Given the description of an element on the screen output the (x, y) to click on. 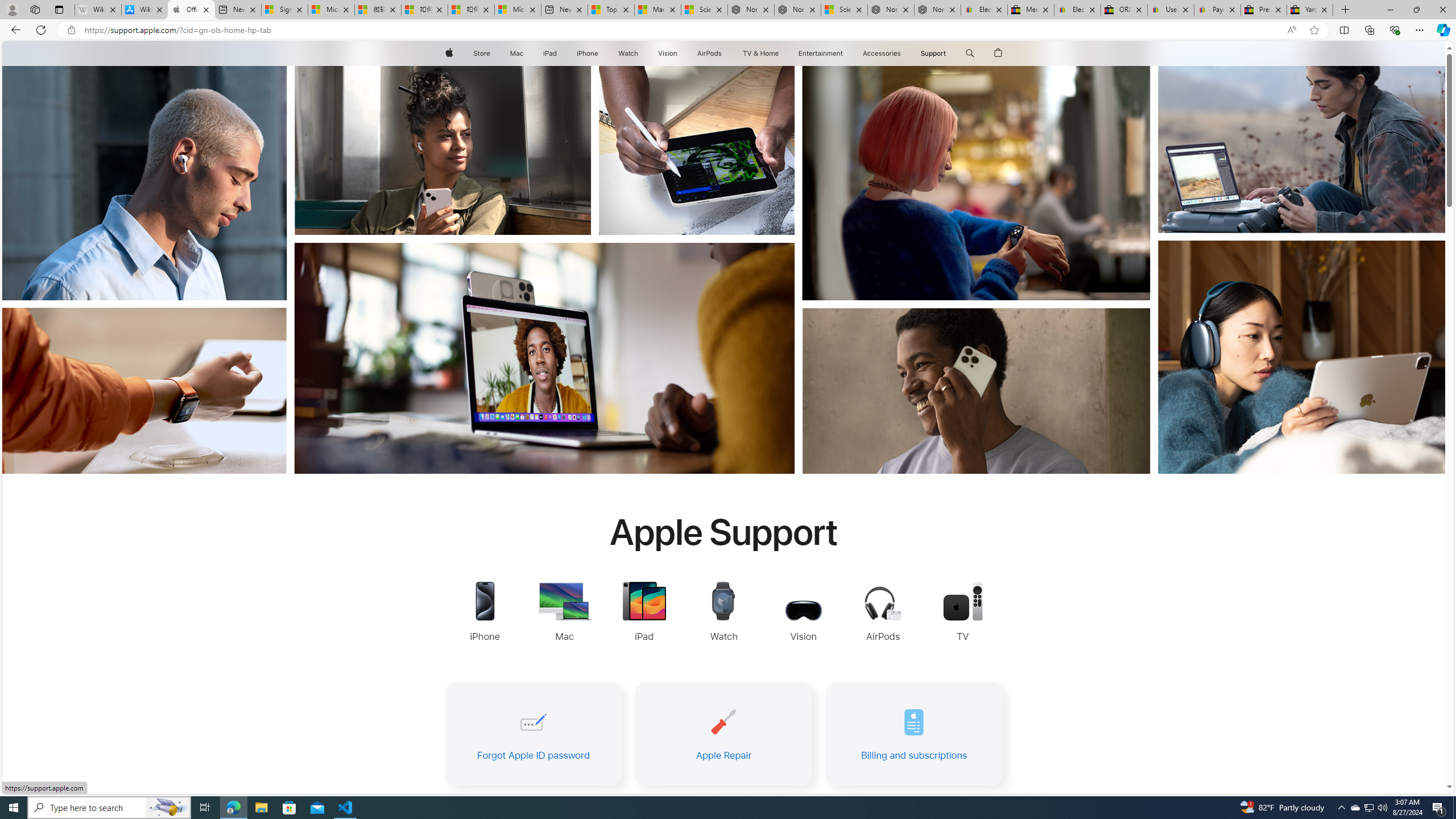
AirPods Support (882, 615)
iPad Support (643, 612)
Class: globalnav-submenu-trigger-item (948, 53)
Apple (448, 53)
TV & Home (759, 53)
Apple (448, 53)
